Given the description of an element on the screen output the (x, y) to click on. 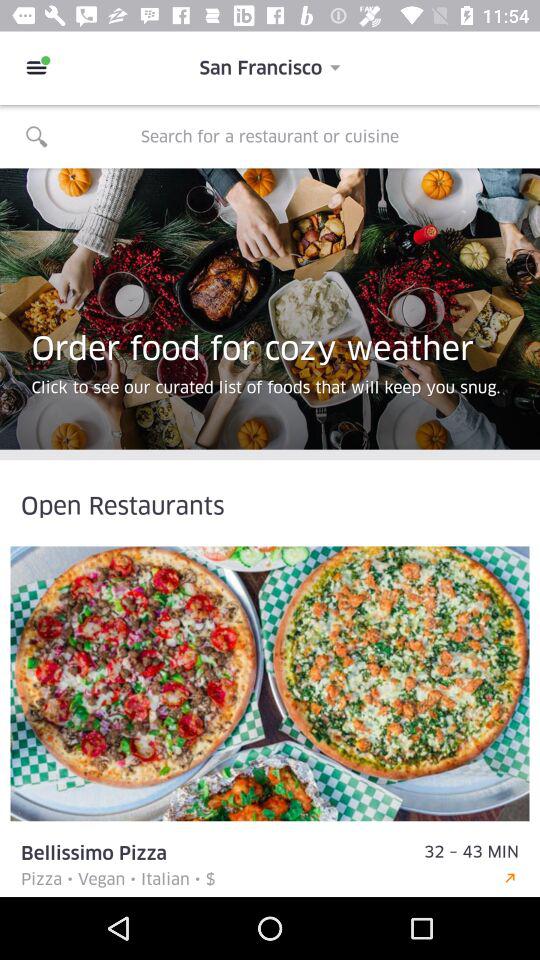
open item next to the san francisco (36, 68)
